Given the description of an element on the screen output the (x, y) to click on. 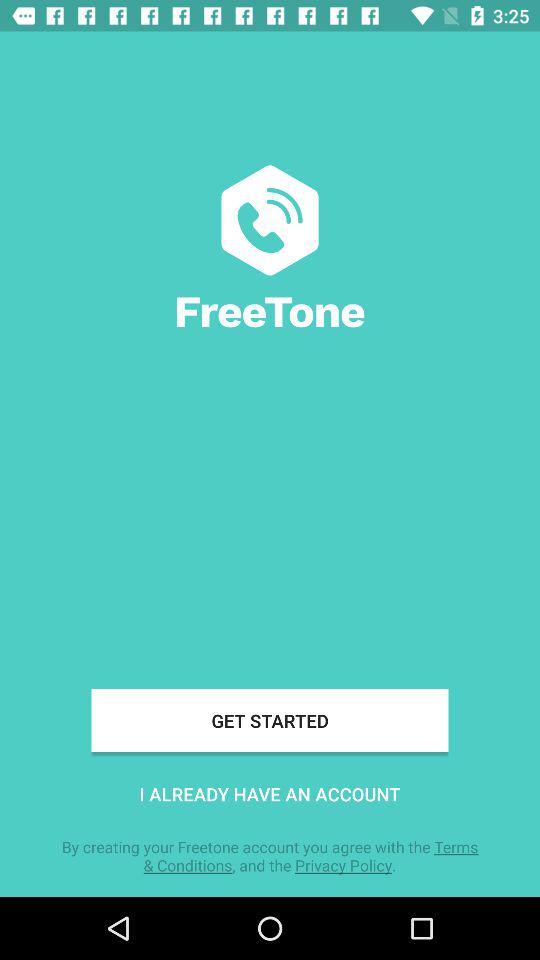
tap the item below i already have item (270, 856)
